Given the description of an element on the screen output the (x, y) to click on. 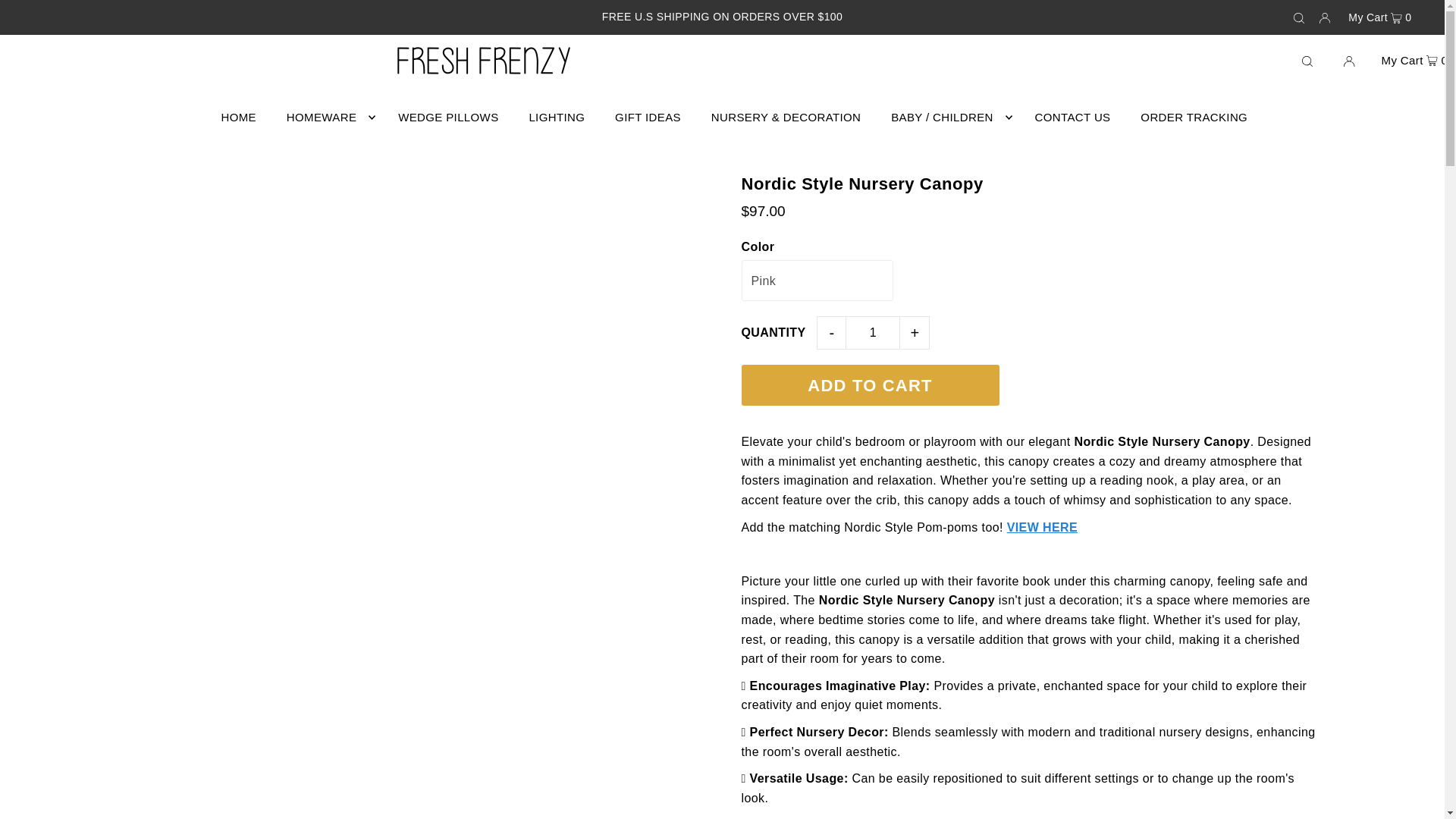
1 (872, 332)
HOME (237, 117)
Add to Cart (869, 384)
HOMEWARE (327, 117)
